Given the description of an element on the screen output the (x, y) to click on. 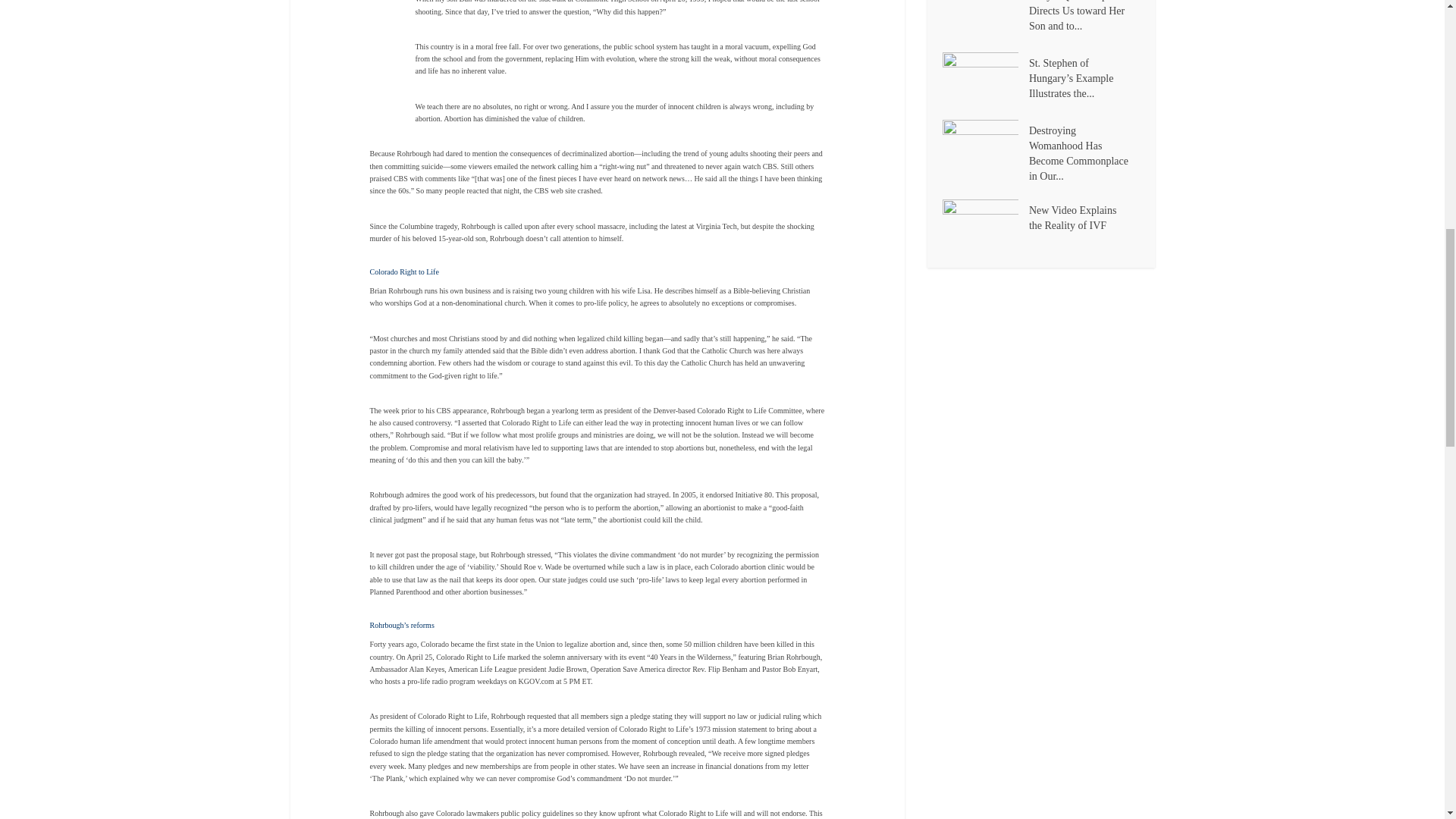
New Video Explains the Reality of IVF (1084, 216)
New Video Explains the Reality of IVF (984, 225)
